Given the description of an element on the screen output the (x, y) to click on. 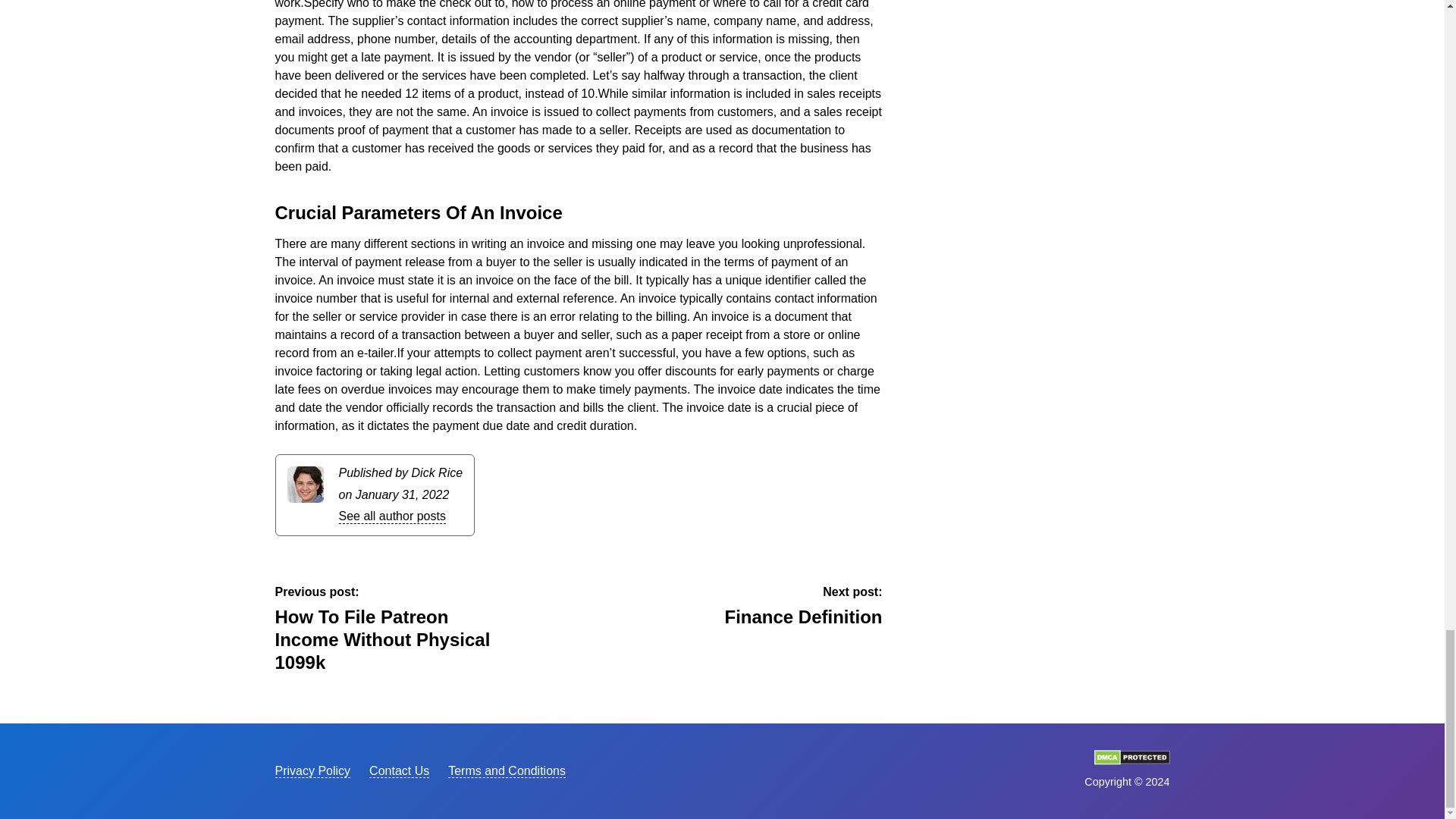
See all author posts (767, 606)
Privacy Policy (391, 516)
Terms and Conditions (312, 771)
Contact Us (507, 771)
Content Protection by DMCA.com (399, 771)
